Given the description of an element on the screen output the (x, y) to click on. 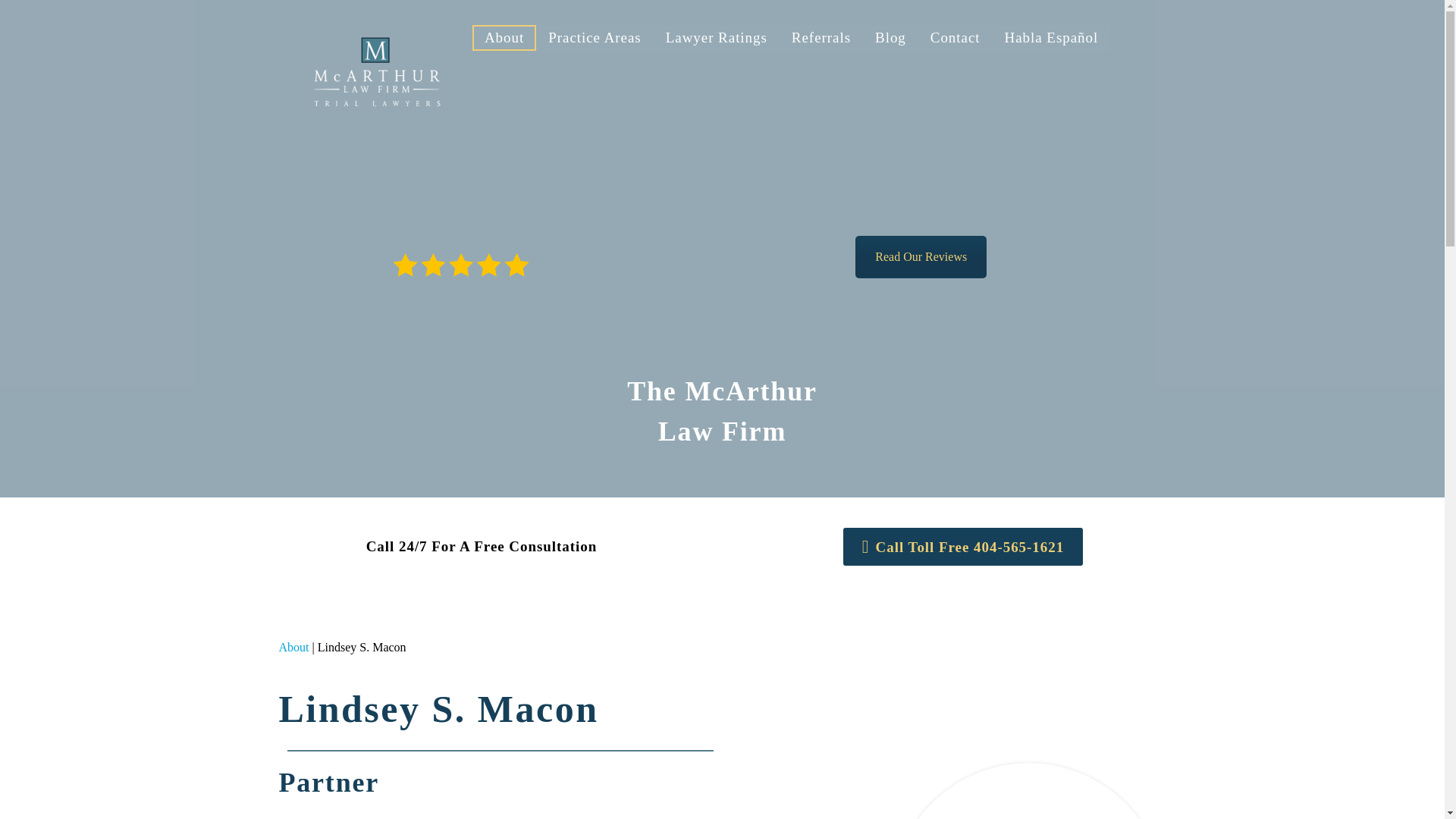
Blog (890, 37)
Read Our Reviews! (921, 256)
Referrals (820, 37)
Contact (955, 37)
About (503, 37)
Lawyer Ratings (715, 37)
McArthur Law Firm 5 Star Reviews (461, 265)
Lindsey Macon (1028, 790)
Call 404-565-1621 for a Free Consultation (963, 546)
Practice Areas (594, 37)
